Given the description of an element on the screen output the (x, y) to click on. 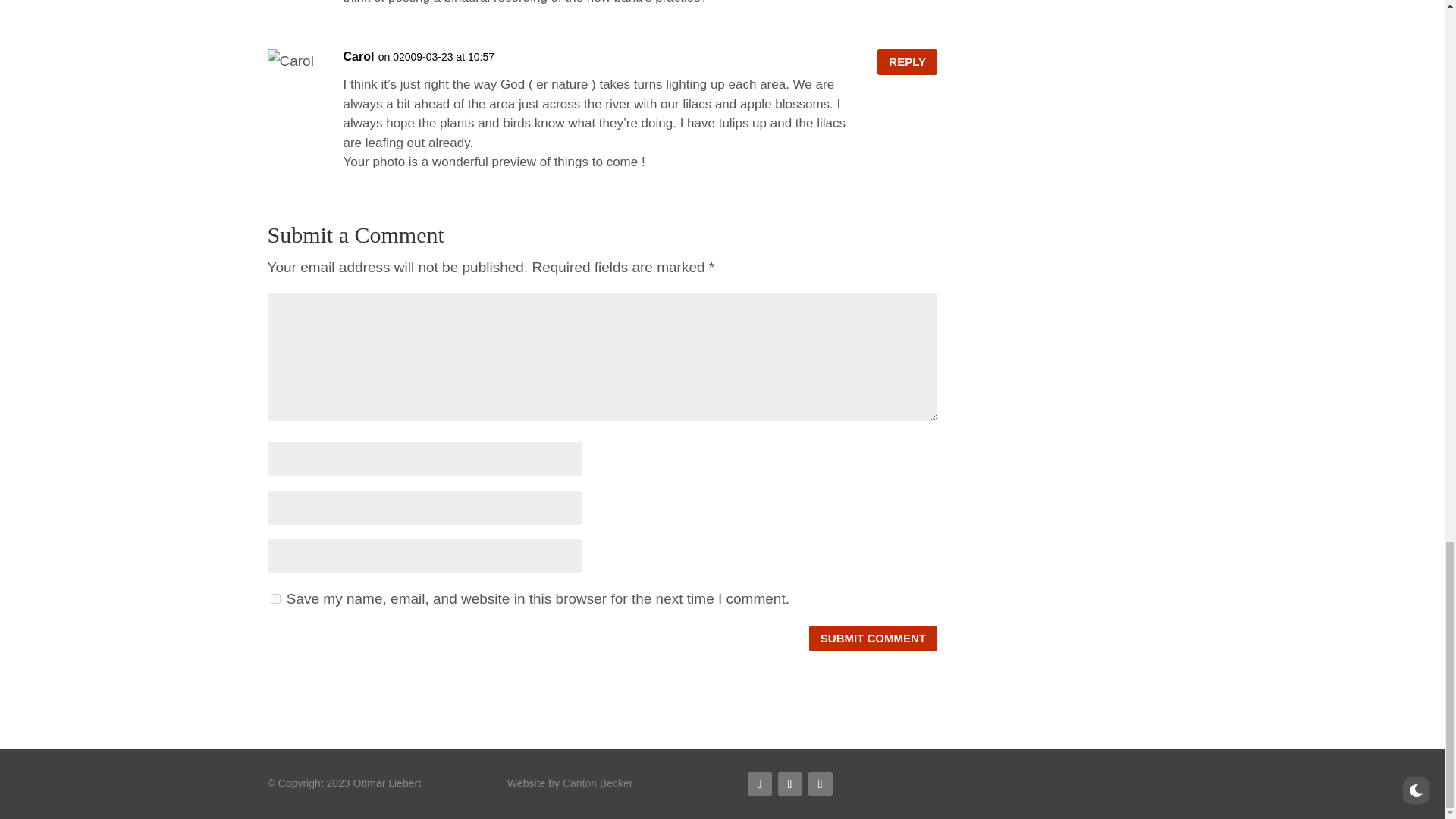
yes (274, 598)
Follow on Bandcamp (820, 784)
Follow on Odnoklassniki (789, 784)
SUBMIT COMMENT (873, 638)
REPLY (907, 62)
Follow on RSS (759, 784)
